Given the description of an element on the screen output the (x, y) to click on. 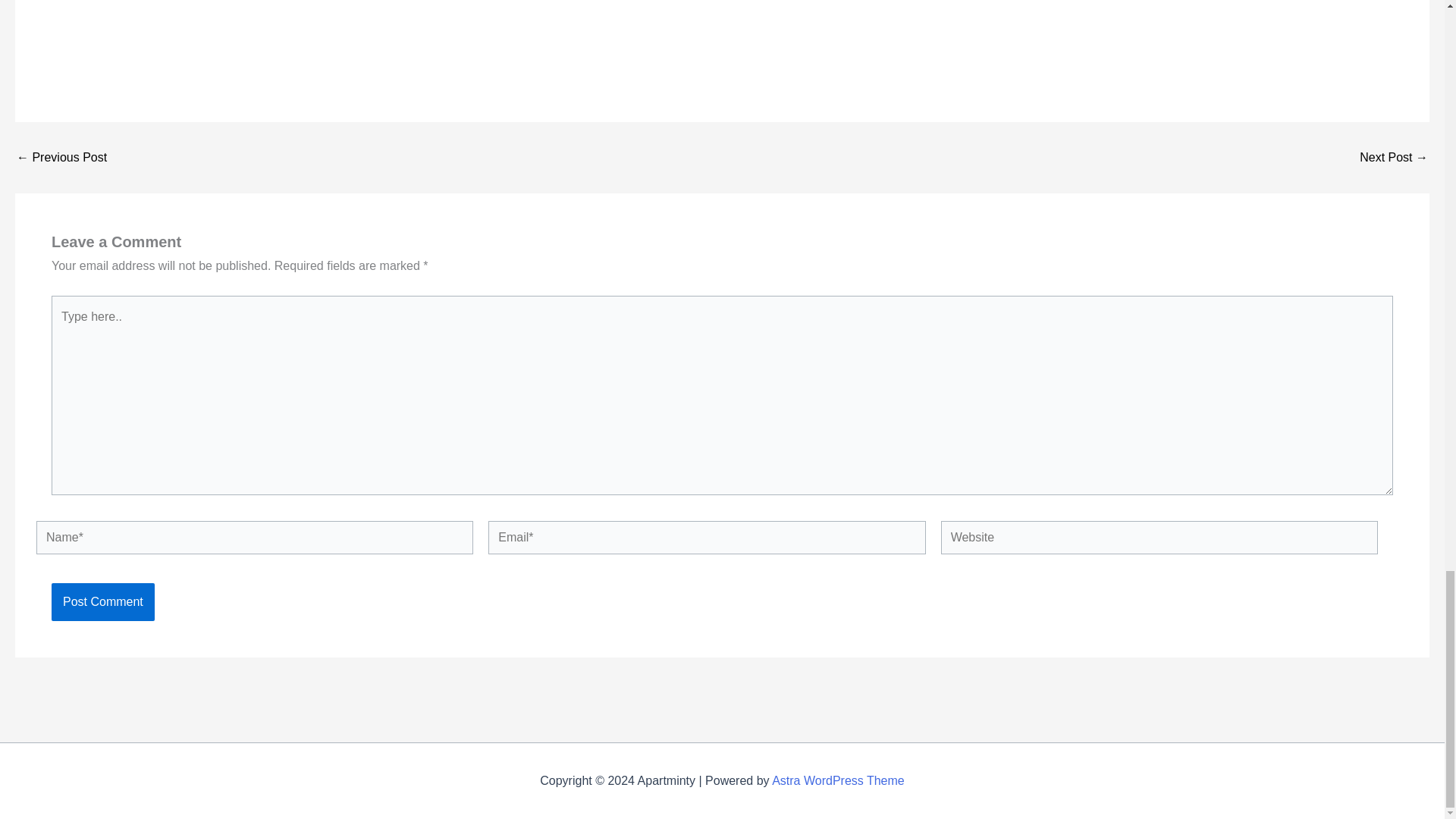
Make Moving With Children Easier (1393, 157)
How to Bounce Back After Overeating on Holiday (61, 157)
Post Comment (102, 601)
